Given the description of an element on the screen output the (x, y) to click on. 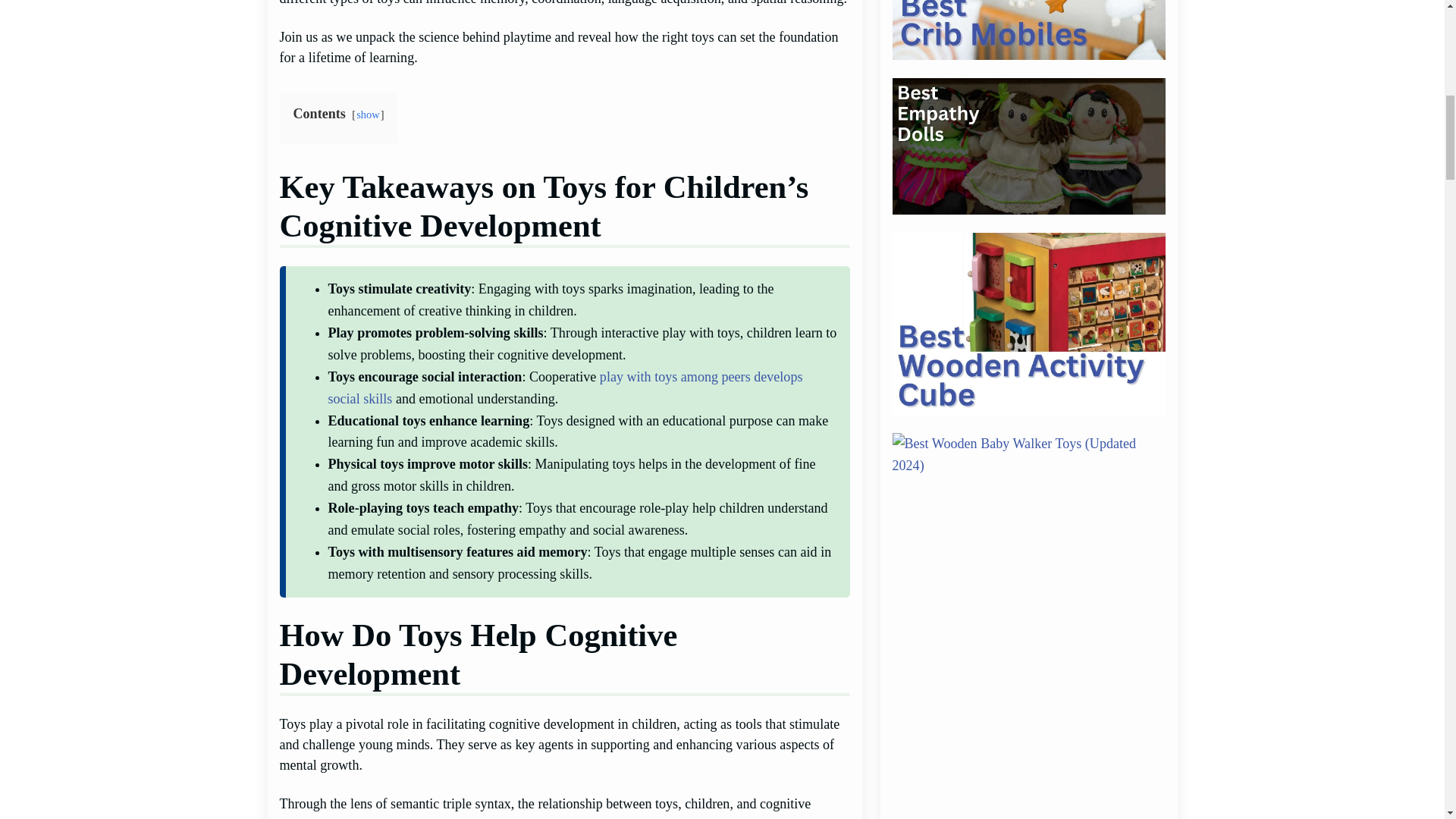
Best Wooden Activity Cube for Toddlers in 2023 8 (1027, 323)
show (368, 114)
play with toys among peers develops social skills (564, 387)
